Given the description of an element on the screen output the (x, y) to click on. 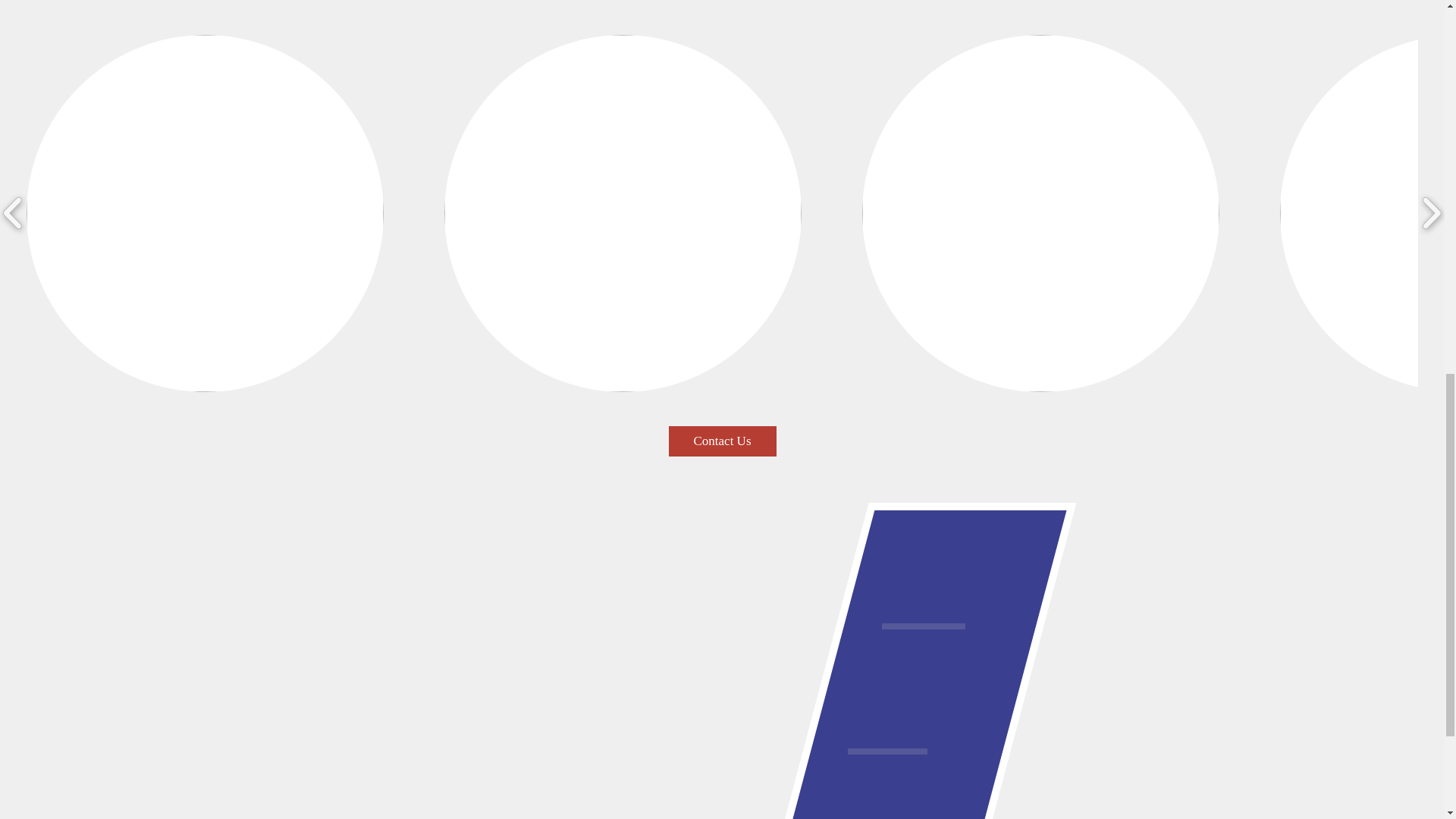
Contact Us (722, 440)
